Given the description of an element on the screen output the (x, y) to click on. 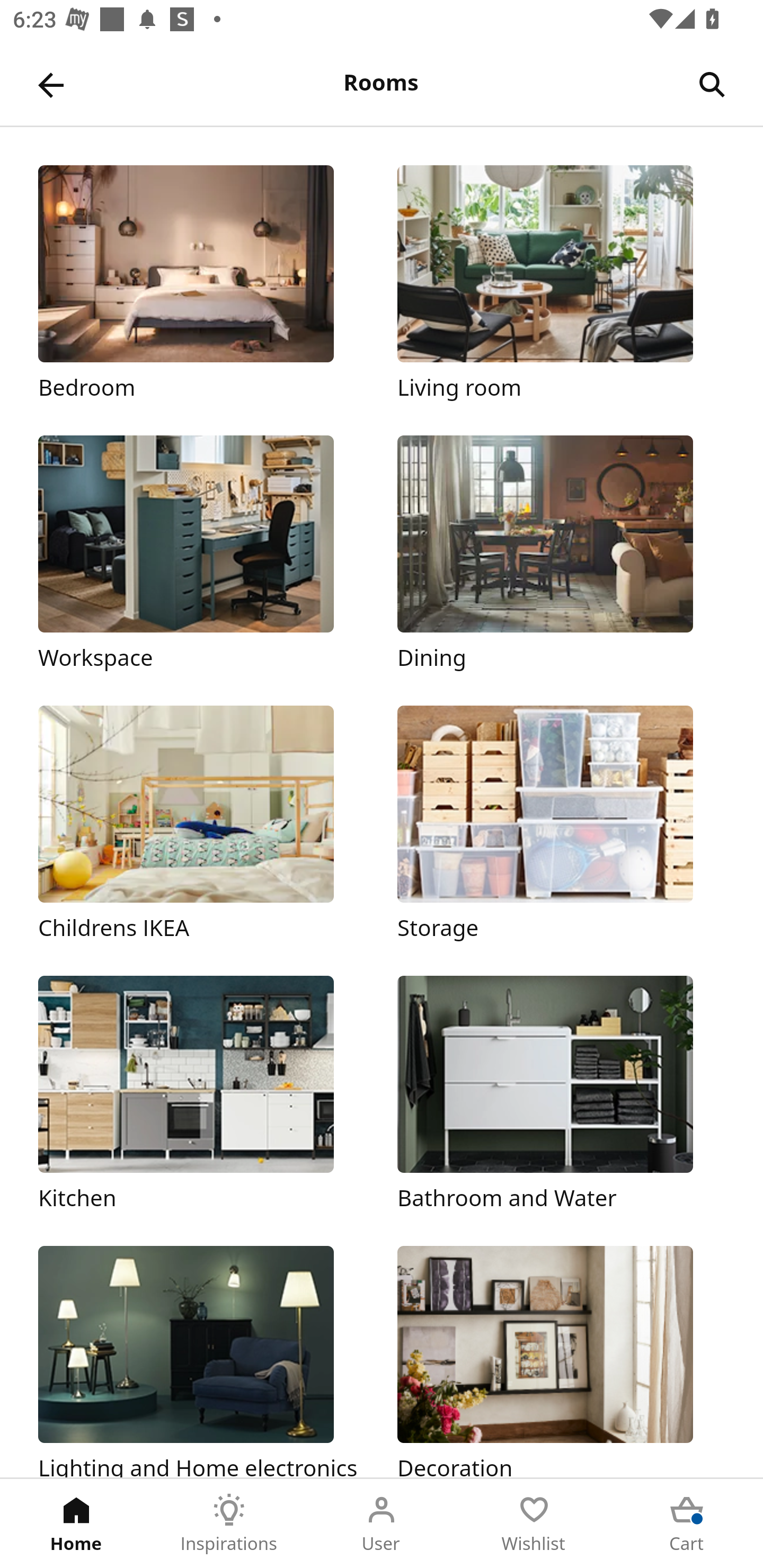
Bedroom (201, 283)
Living room (560, 283)
Workspace (201, 554)
Dining (560, 554)
Childrens IKEA (201, 824)
Storage (560, 824)
Kitchen (201, 1094)
Bathroom and Water (560, 1094)
Lighting and Home electronics (201, 1361)
Decoration (560, 1361)
Home
Tab 1 of 5 (76, 1522)
Inspirations
Tab 2 of 5 (228, 1522)
User
Tab 3 of 5 (381, 1522)
Wishlist
Tab 4 of 5 (533, 1522)
Cart
Tab 5 of 5 (686, 1522)
